Given the description of an element on the screen output the (x, y) to click on. 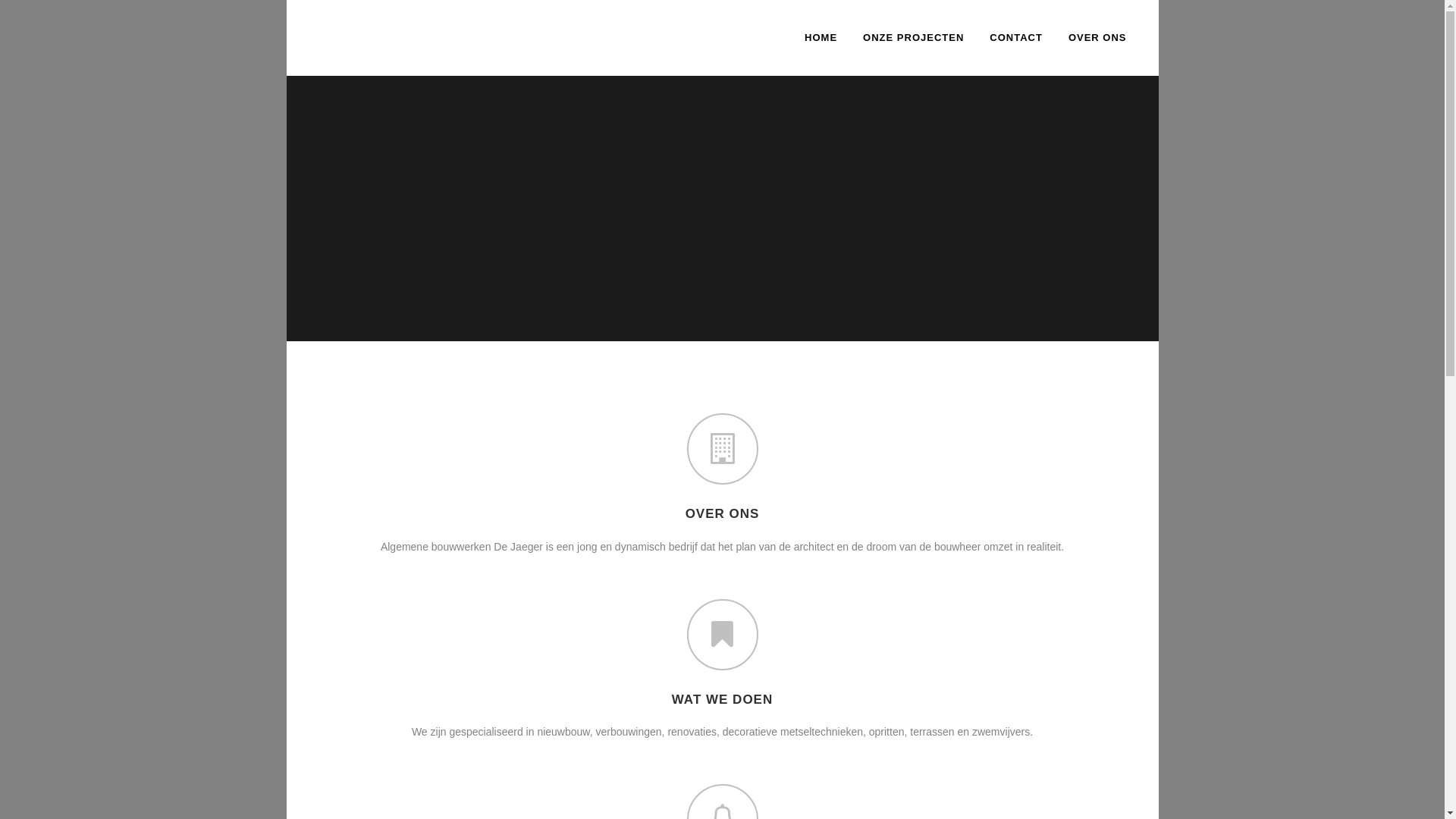
CONTACT Element type: text (1015, 37)
ONZE PROJECTEN Element type: text (913, 37)
HOME Element type: text (820, 37)
OVER ONS Element type: text (1097, 37)
